Given the description of an element on the screen output the (x, y) to click on. 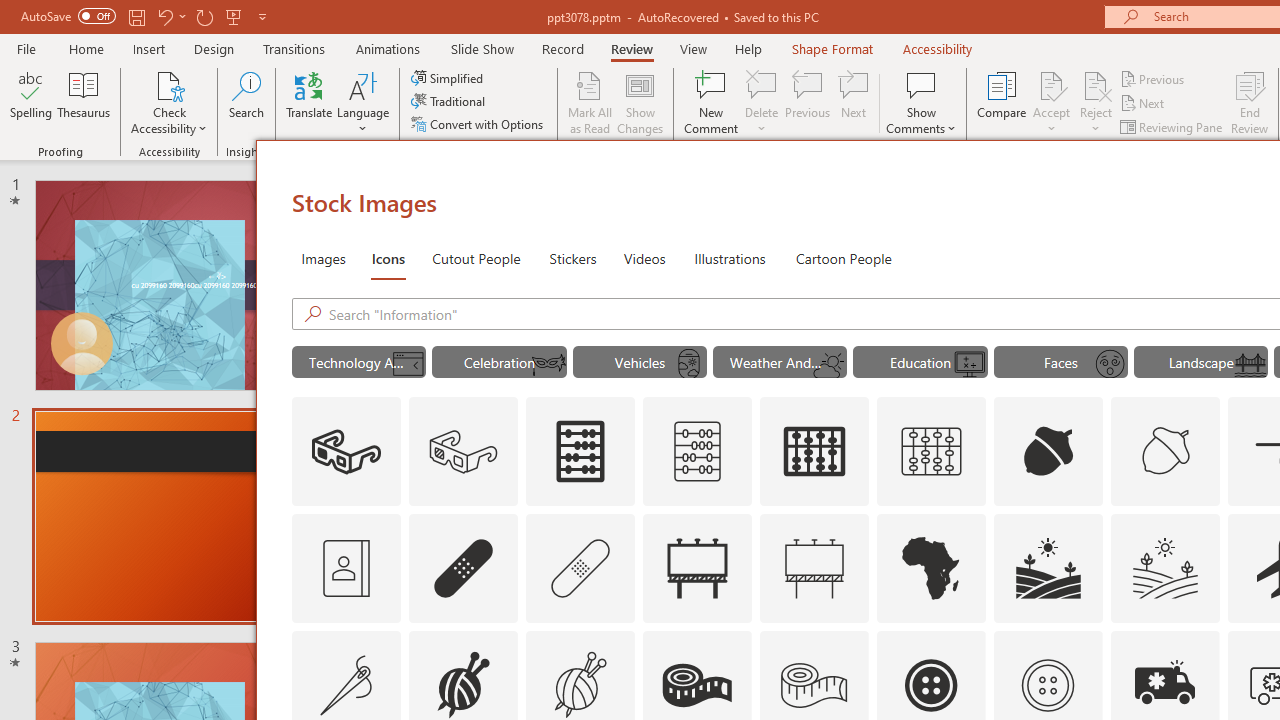
AutomationID: Icons_PartyMask_M (549, 364)
Cutout People (477, 258)
Stickers (573, 258)
AutomationID: Icons_Africa (931, 568)
